Given the description of an element on the screen output the (x, y) to click on. 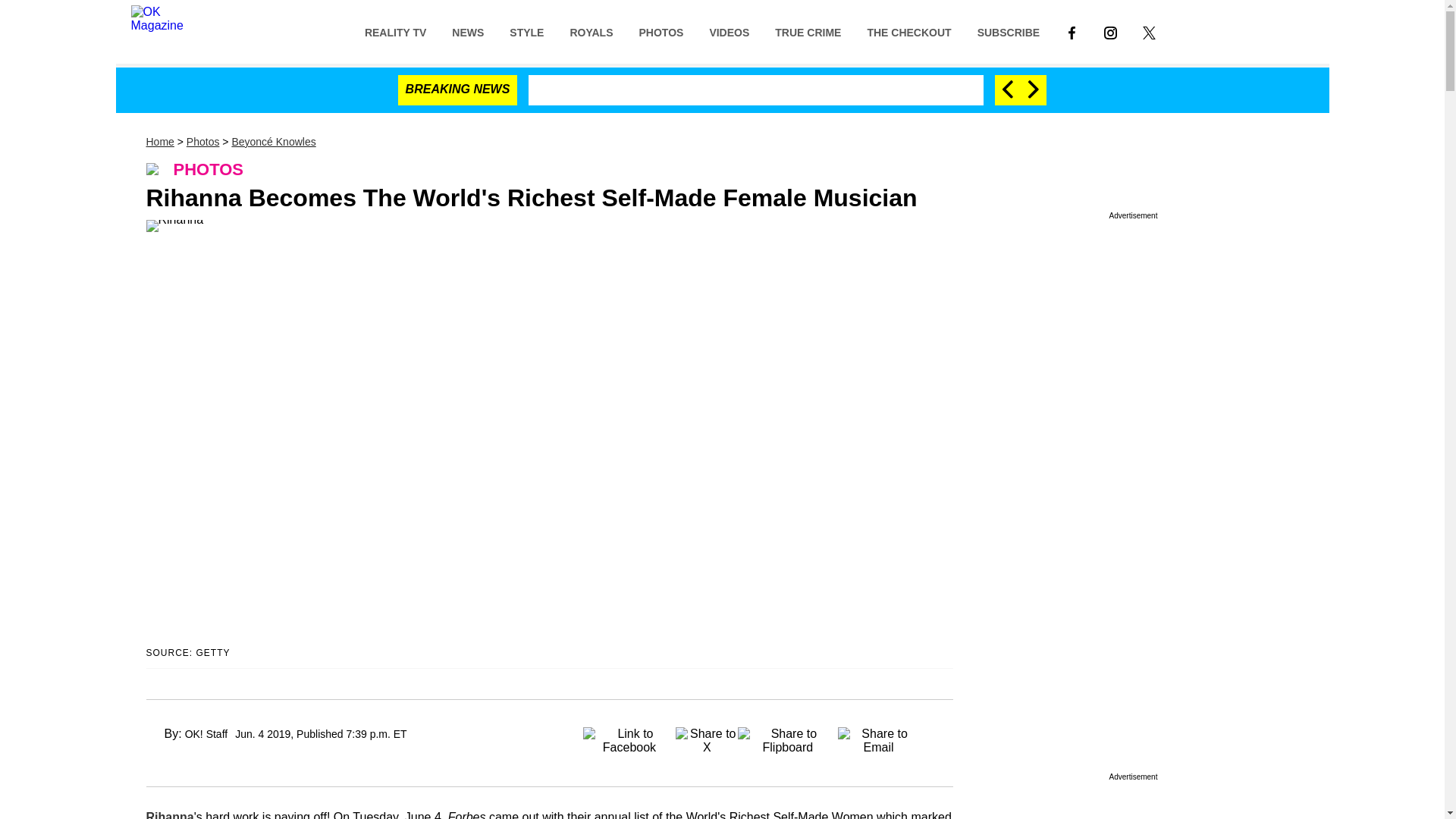
STYLE (526, 31)
THE CHECKOUT (908, 31)
Photos (202, 141)
LINK TO INSTAGRAM (1109, 31)
OK! Staff (206, 734)
TRUE CRIME (807, 31)
VIDEOS (728, 31)
Home (159, 141)
Link to Instagram (1109, 31)
Share to Facebook (628, 736)
Rihanna (169, 814)
Share to X (706, 736)
LINK TO FACEBOOK (1071, 31)
Share to Flipboard (788, 736)
Share to Email (879, 736)
